Given the description of an element on the screen output the (x, y) to click on. 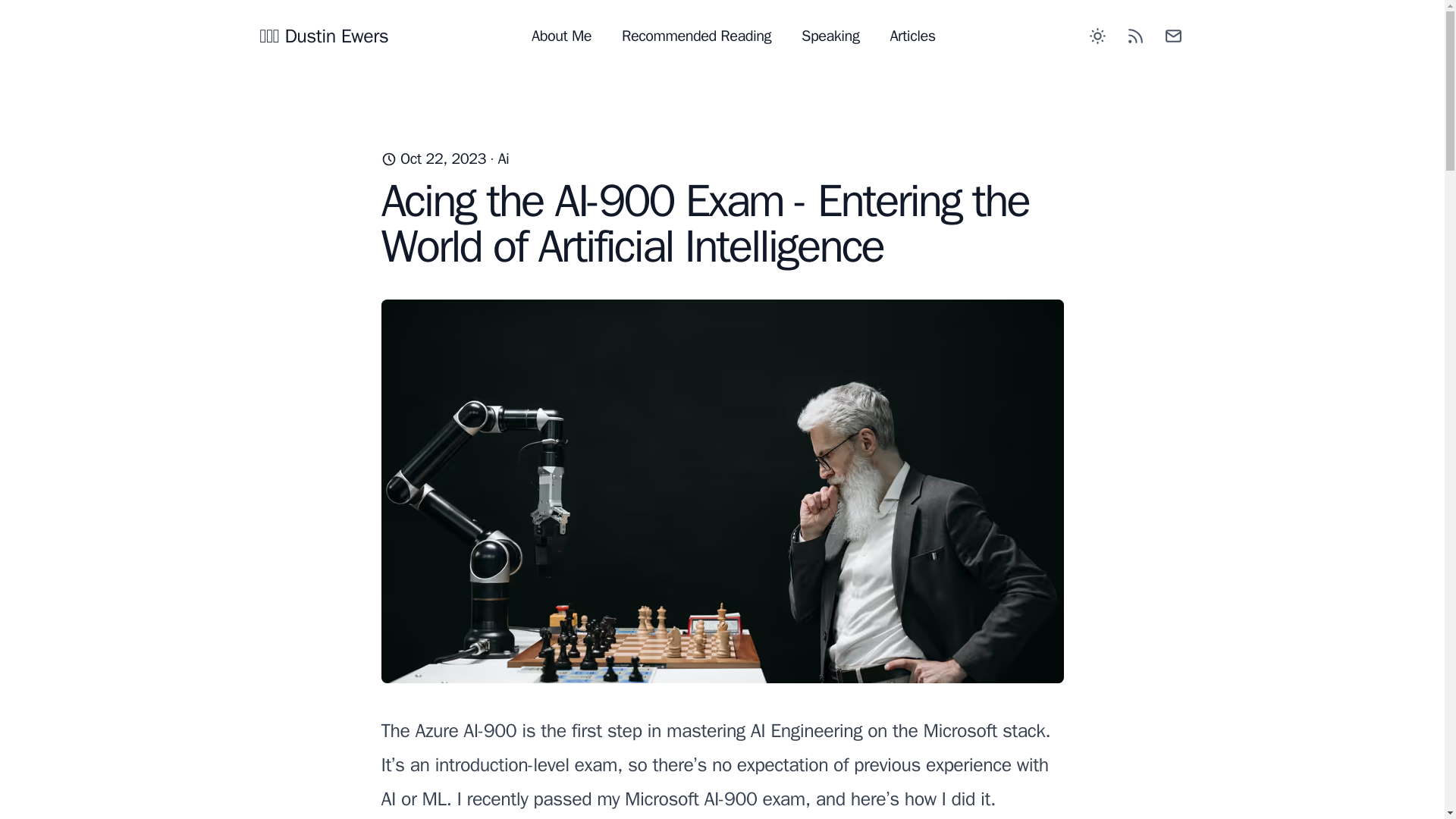
About Me (561, 35)
Articles (912, 35)
Speaking (830, 35)
Recommended Reading (696, 35)
